Given the description of an element on the screen output the (x, y) to click on. 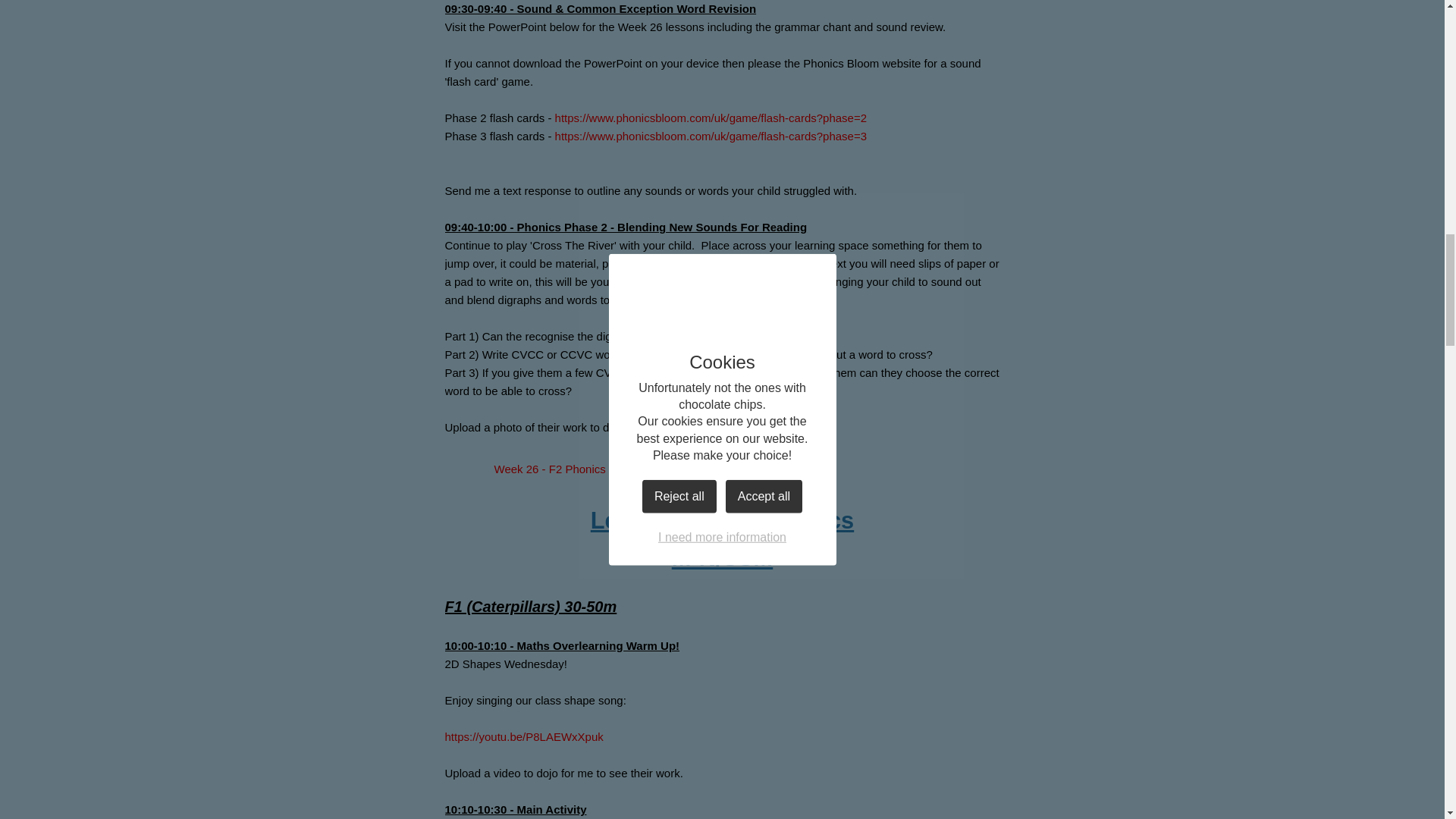
Week 26 - F2 Phonics - OW, OI, YOU.pptx (575, 469)
